Given the description of an element on the screen output the (x, y) to click on. 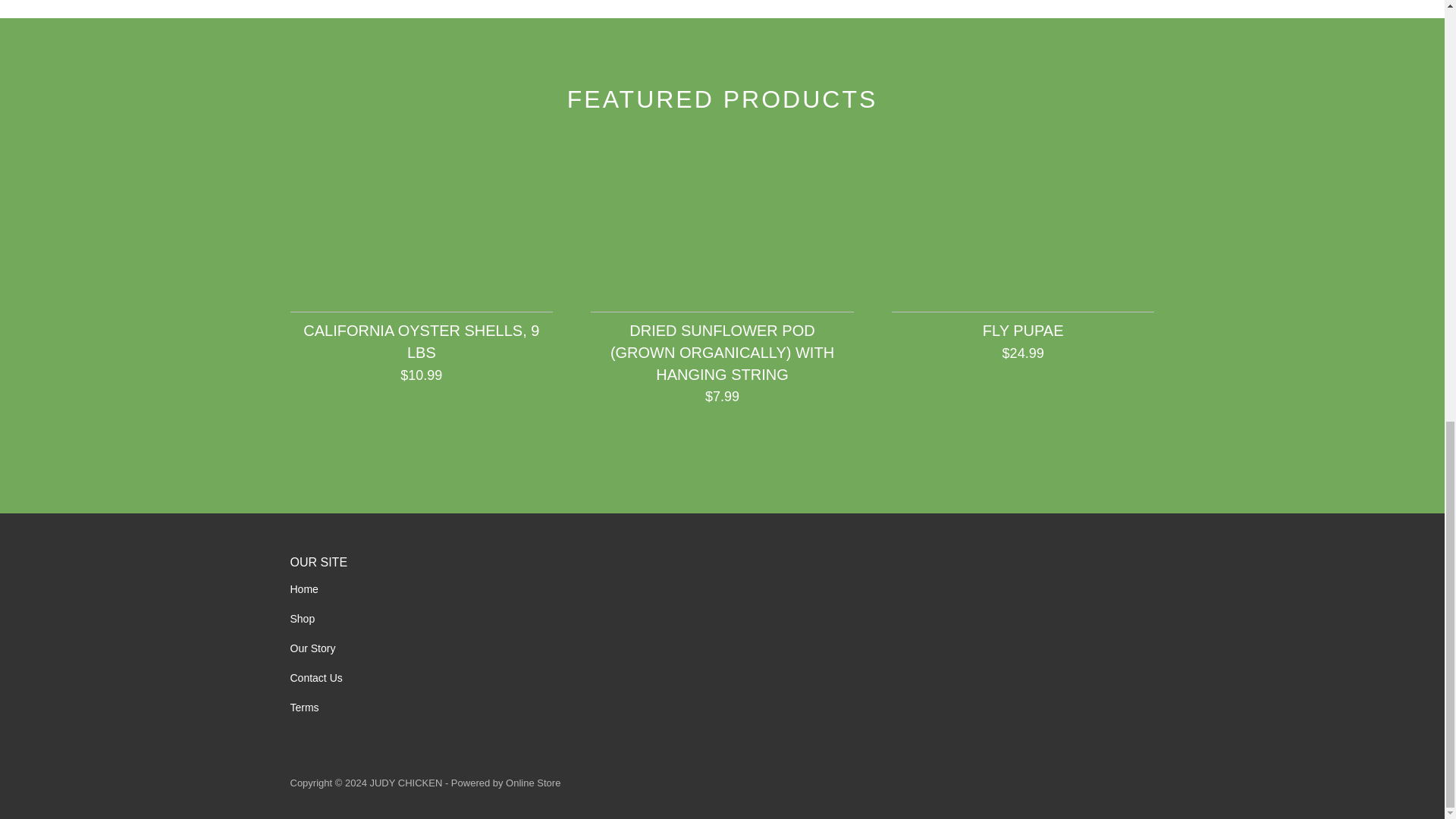
Terms (303, 707)
Our Story (311, 648)
Contact Us (315, 677)
Shop (301, 618)
Home (303, 589)
Powered by Online Store (505, 782)
